Given the description of an element on the screen output the (x, y) to click on. 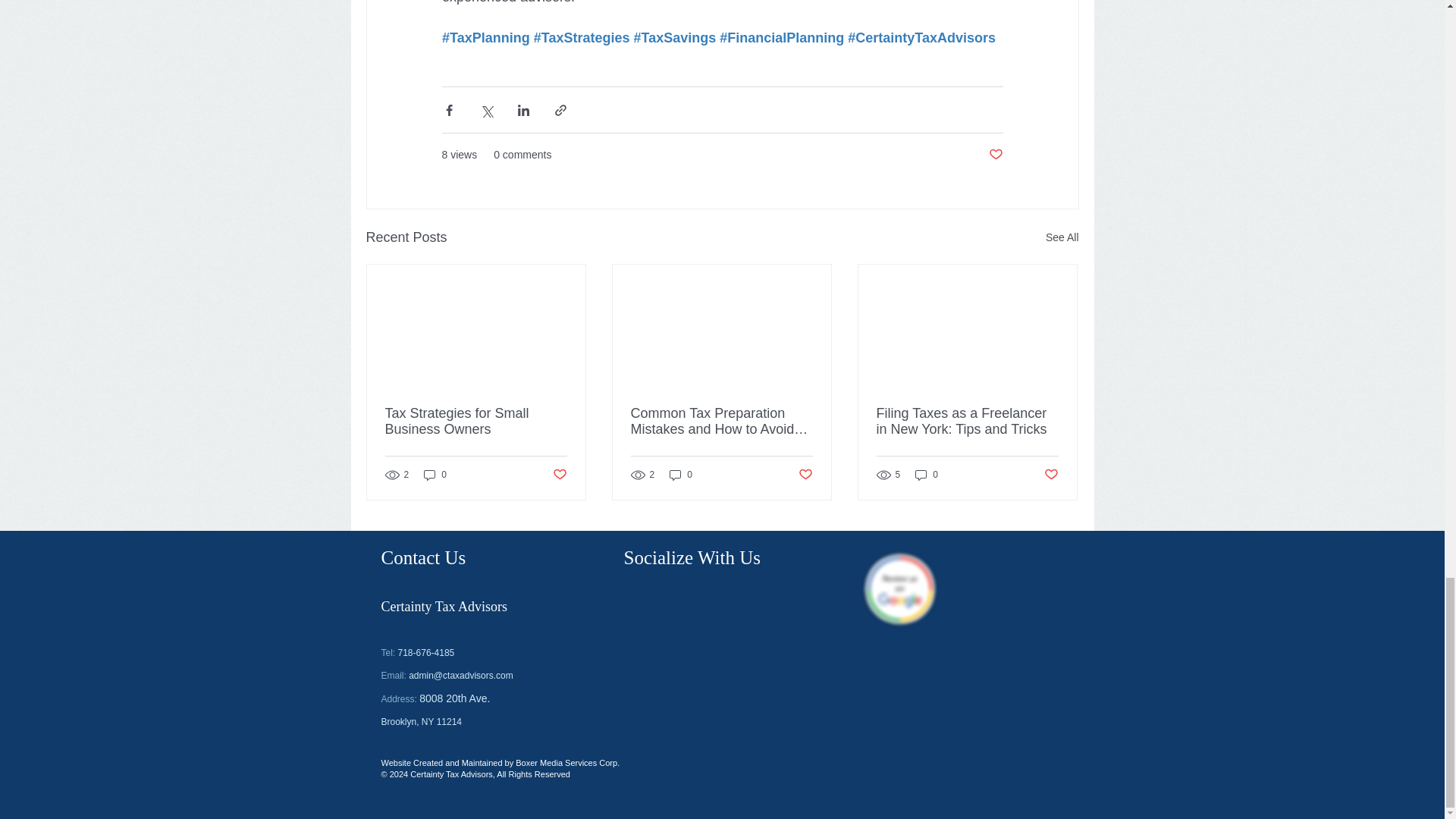
Tax Strategies for Small Business Owners (476, 421)
See All (1061, 237)
Post not marked as liked (995, 154)
